Given the description of an element on the screen output the (x, y) to click on. 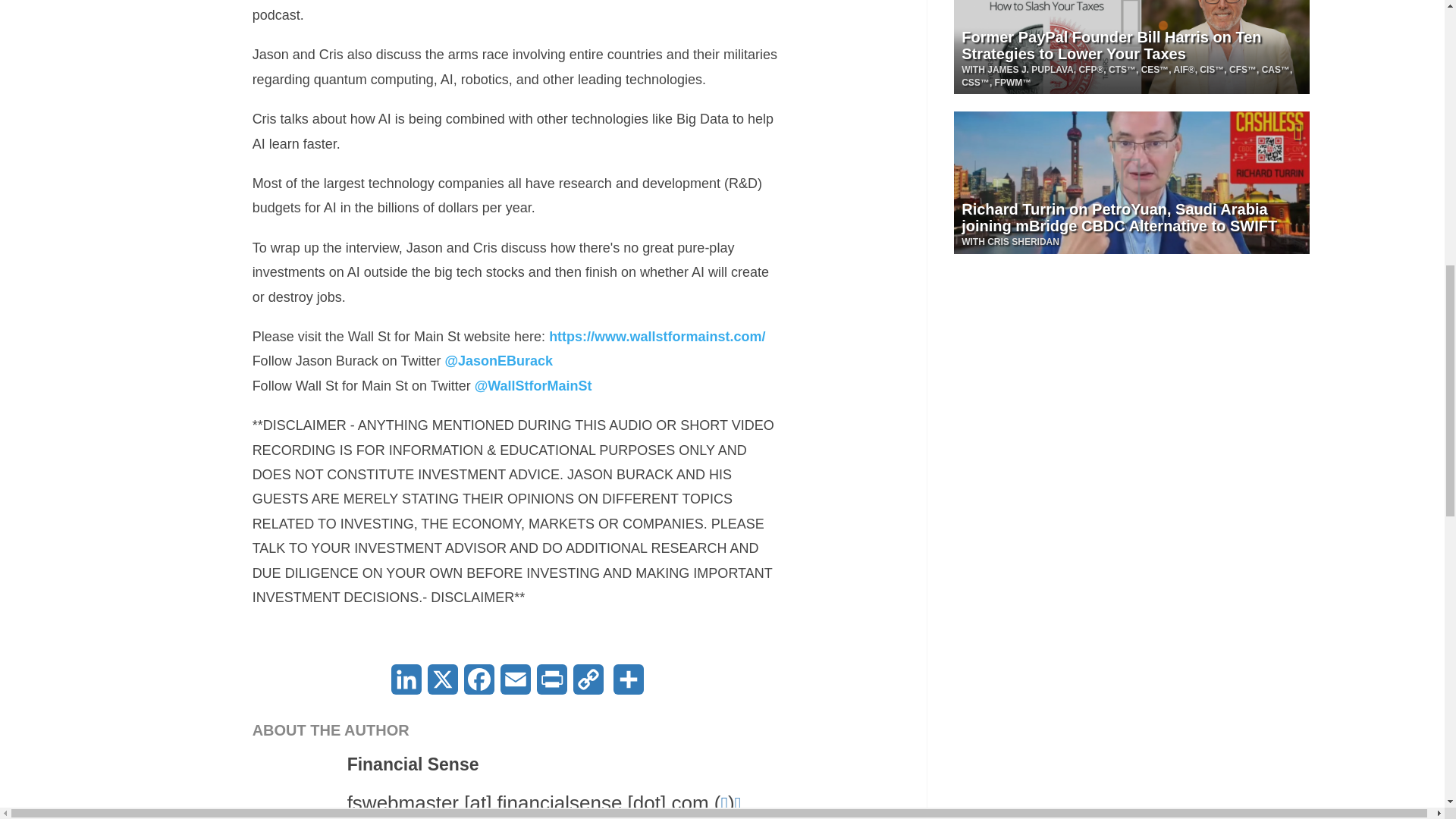
View profile. (413, 763)
View profile. (293, 786)
